Given the description of an element on the screen output the (x, y) to click on. 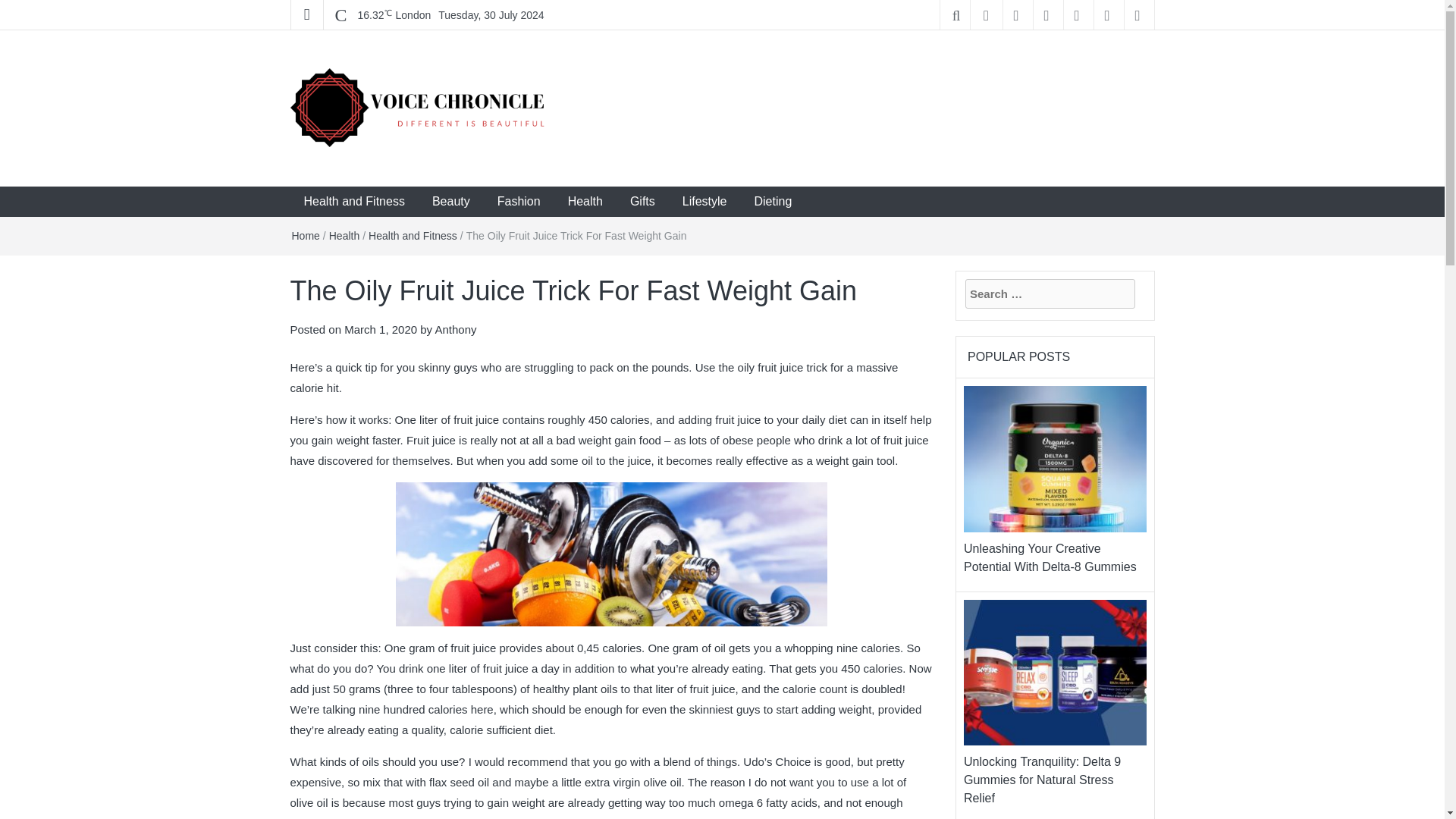
Home (304, 235)
Unleashing Your Creative Potential With Delta-8 Gummies (1055, 458)
Gifts (641, 201)
Voice Chronicle (384, 170)
Unleashing Your Creative Potential With Delta-8 Gummies (1050, 557)
Health (344, 235)
Fashion (518, 201)
Health (584, 201)
Health and Fitness (353, 201)
Search (15, 6)
Lifestyle (704, 201)
Beauty (451, 201)
